Given the description of an element on the screen output the (x, y) to click on. 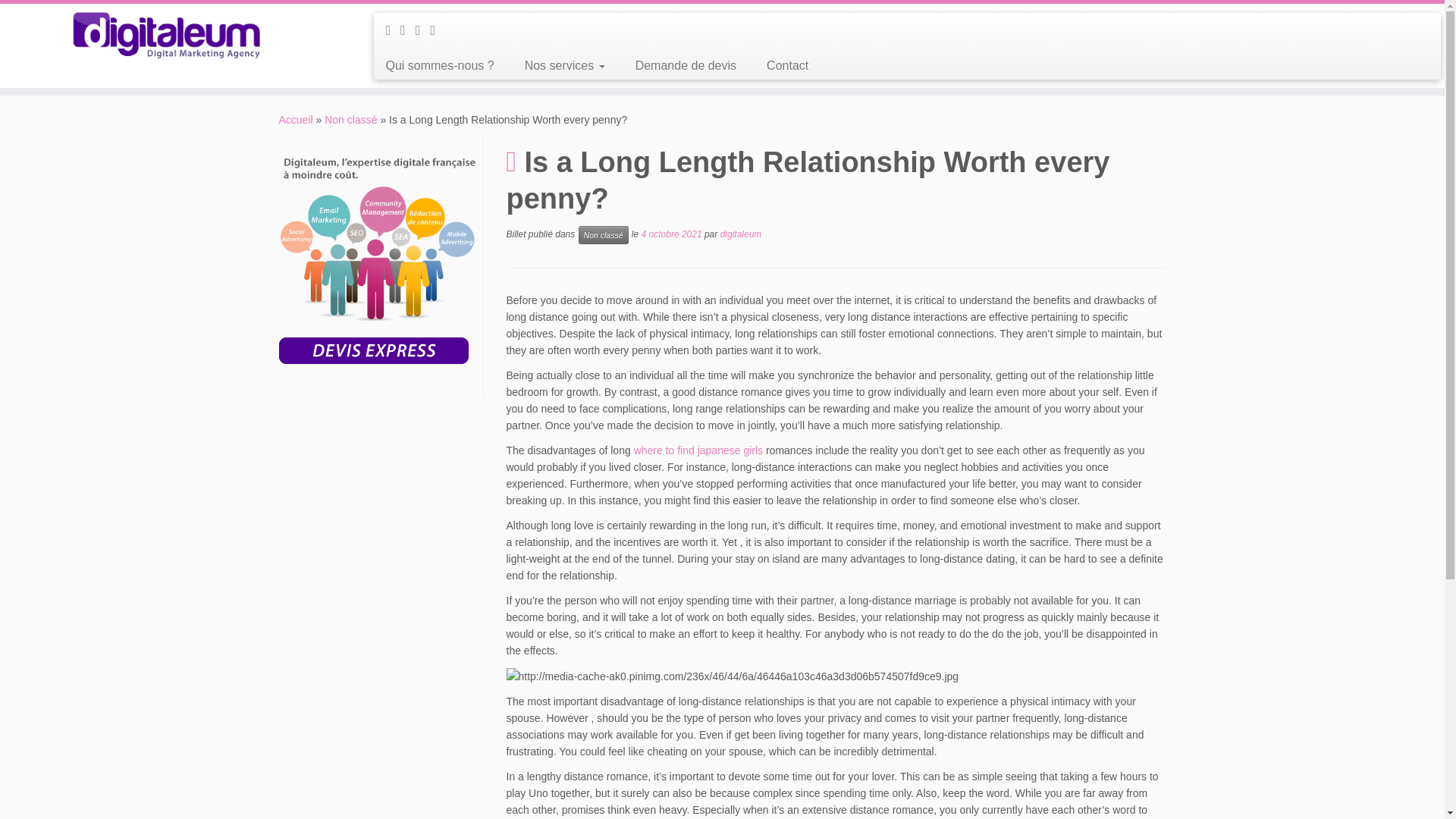
Voir tous les billets de digitaleum (740, 234)
Follow me on Facebook (422, 29)
Qui sommes-nous ? (444, 65)
Accueil (296, 119)
1 h 00 min (671, 234)
where to find japanese girls (697, 450)
4 octobre 2021 (671, 234)
Follow me on LinkedIn (437, 29)
Subscribe to my rss feed (392, 29)
Contact (779, 65)
Digitaleum - Agence en Marketing Digital (296, 119)
Demande de devis (685, 65)
digitaleum (740, 234)
Nos services (564, 65)
Follow me on Twitter (407, 29)
